Given the description of an element on the screen output the (x, y) to click on. 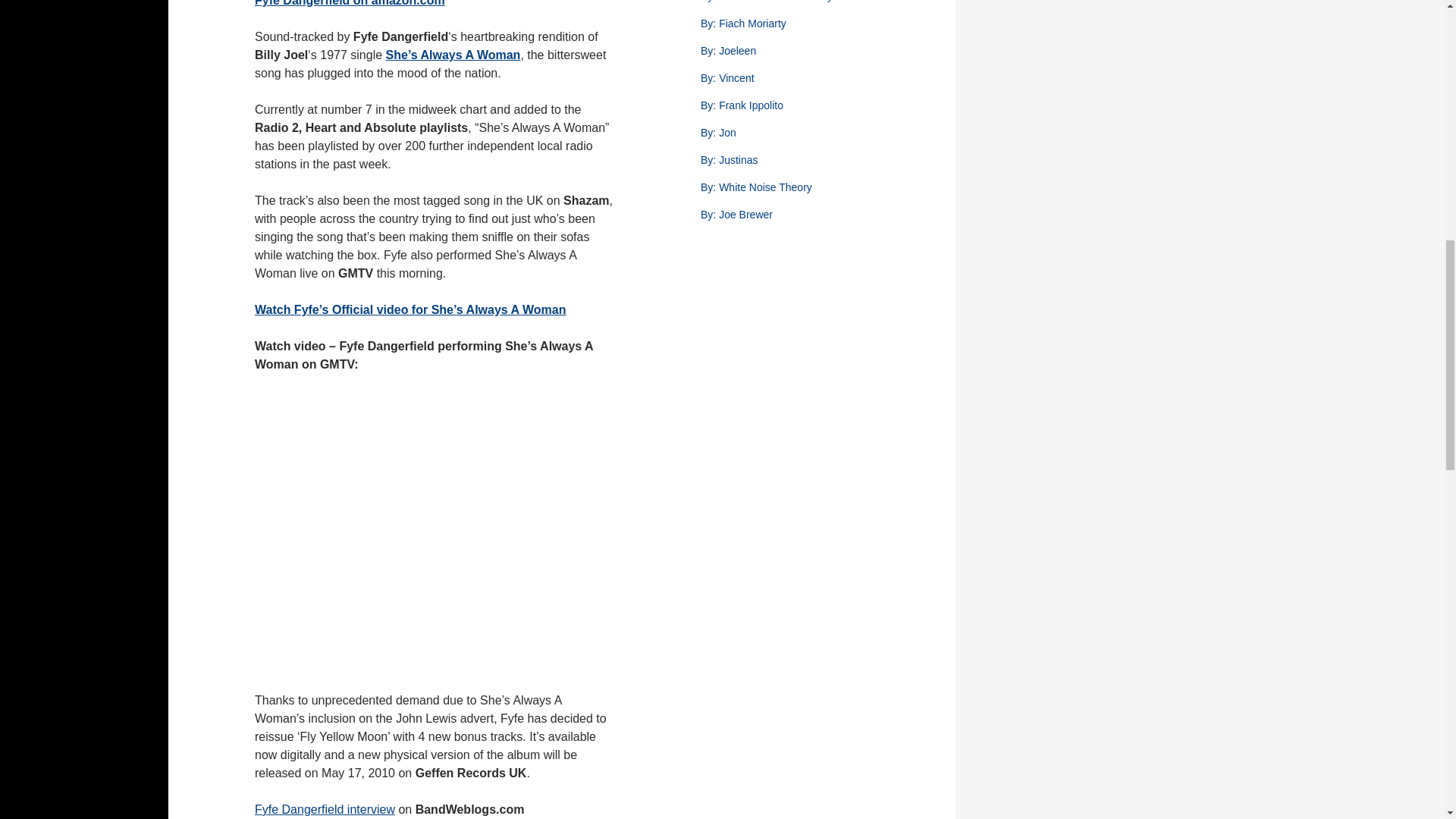
Fyfe Dangerfield interview (324, 809)
Fyfe Dangerfield on amazon.com (349, 3)
